Given the description of an element on the screen output the (x, y) to click on. 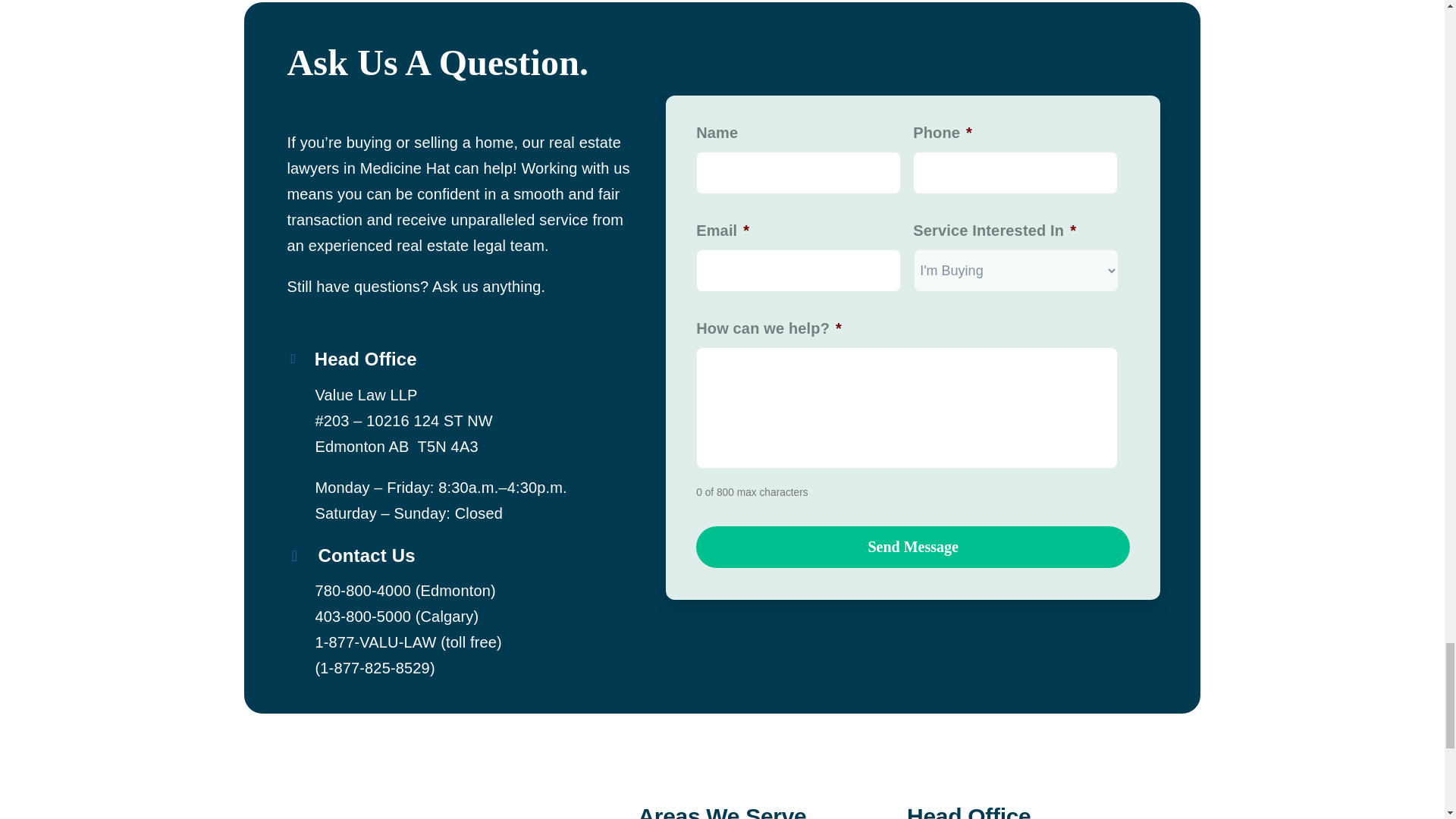
Send Message (912, 547)
